Given the description of an element on the screen output the (x, y) to click on. 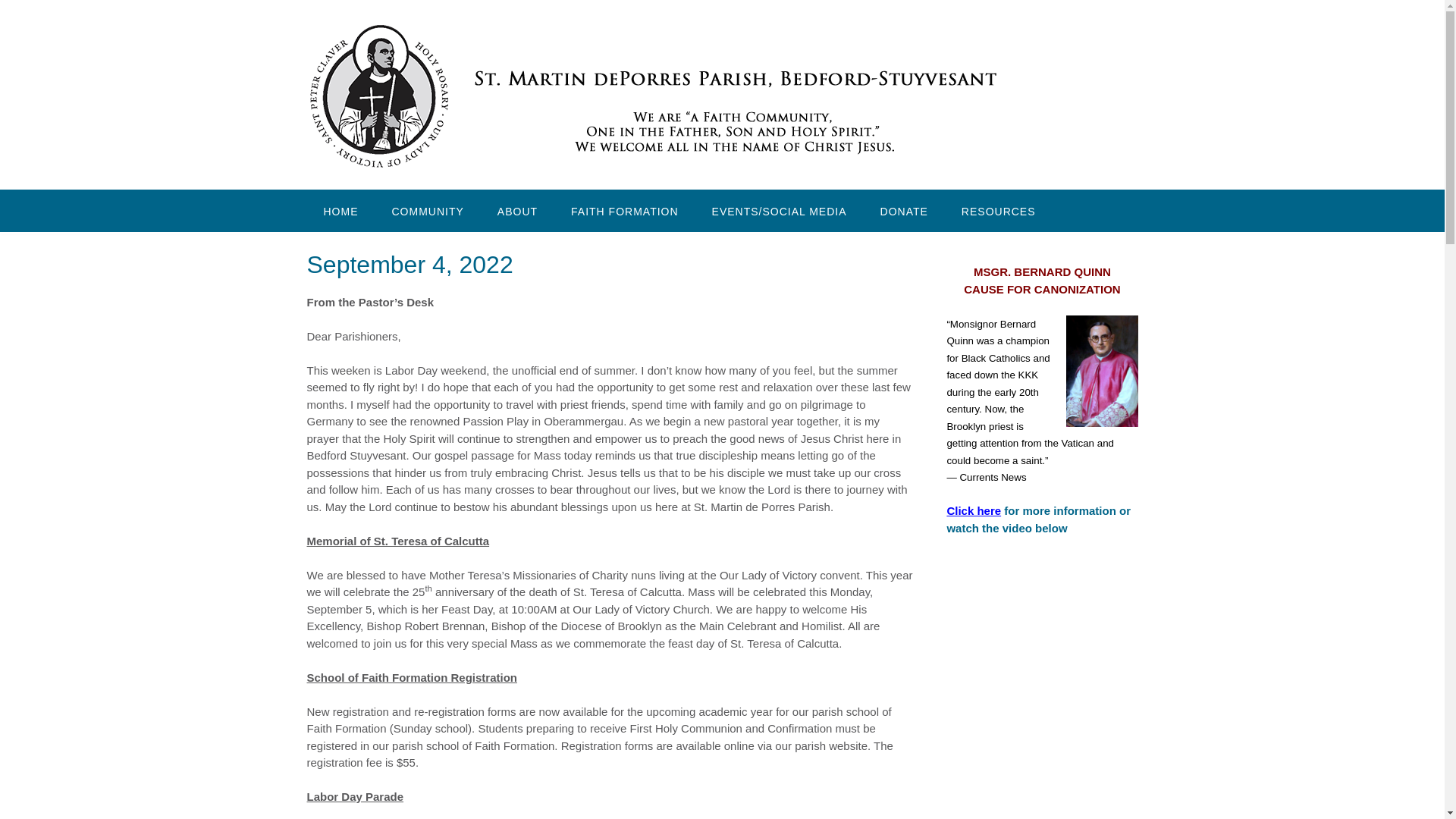
Click here for more information or watch the video below (1038, 519)
COMMUNITY (427, 210)
FAITH FORMATION (624, 210)
RESOURCES (998, 210)
HOME (339, 210)
DONATE (903, 210)
ABOUT (517, 210)
BULLETIN (350, 252)
